Given the description of an element on the screen output the (x, y) to click on. 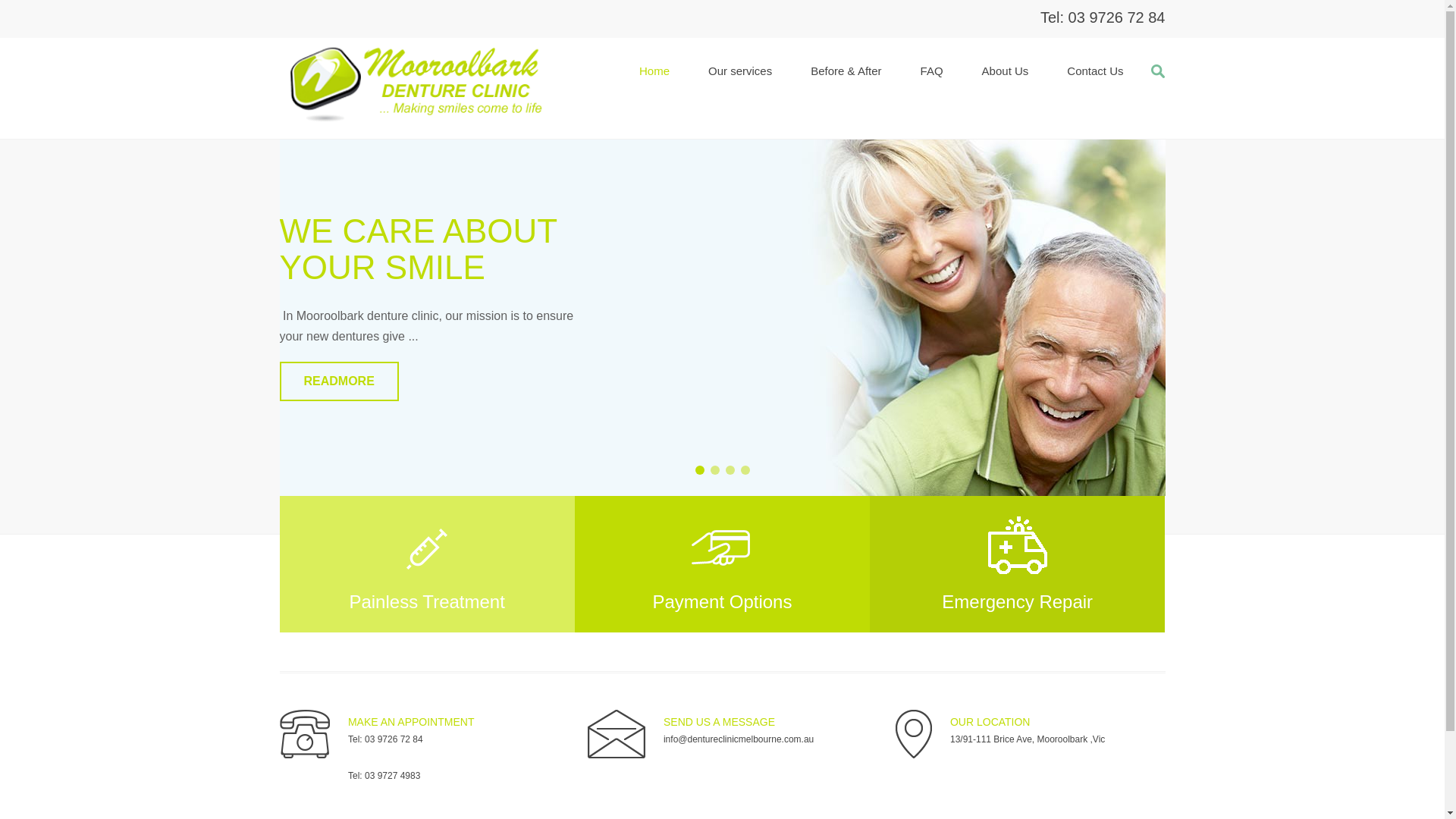
About Us Element type: text (1005, 70)
Our services Element type: text (739, 70)
 Painless Treatment Element type: text (426, 563)
READMORE Element type: text (338, 381)
Home Element type: text (654, 70)
FAQ Element type: text (931, 70)
Before & After Element type: text (845, 70)
 Emergency Repair Element type: text (1016, 563)
WE CARE ABOUT YOUR SMILE Element type: text (417, 248)
 Payment Options Element type: text (721, 563)
Contact Us Element type: text (1095, 70)
